Given the description of an element on the screen output the (x, y) to click on. 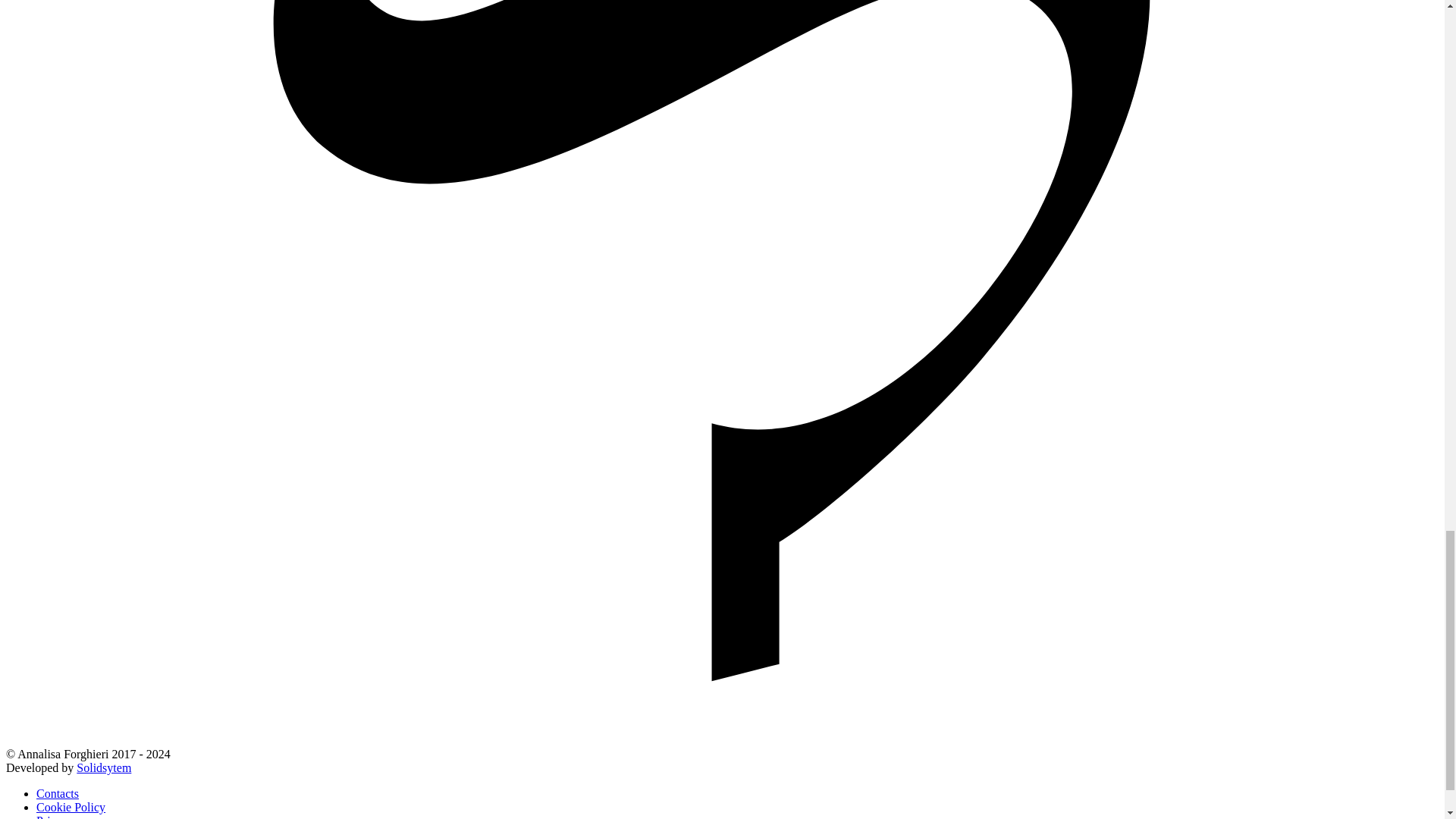
Solidsytem (104, 767)
Cookie Policy (70, 807)
Contacts (57, 793)
Privacy (55, 816)
